Given the description of an element on the screen output the (x, y) to click on. 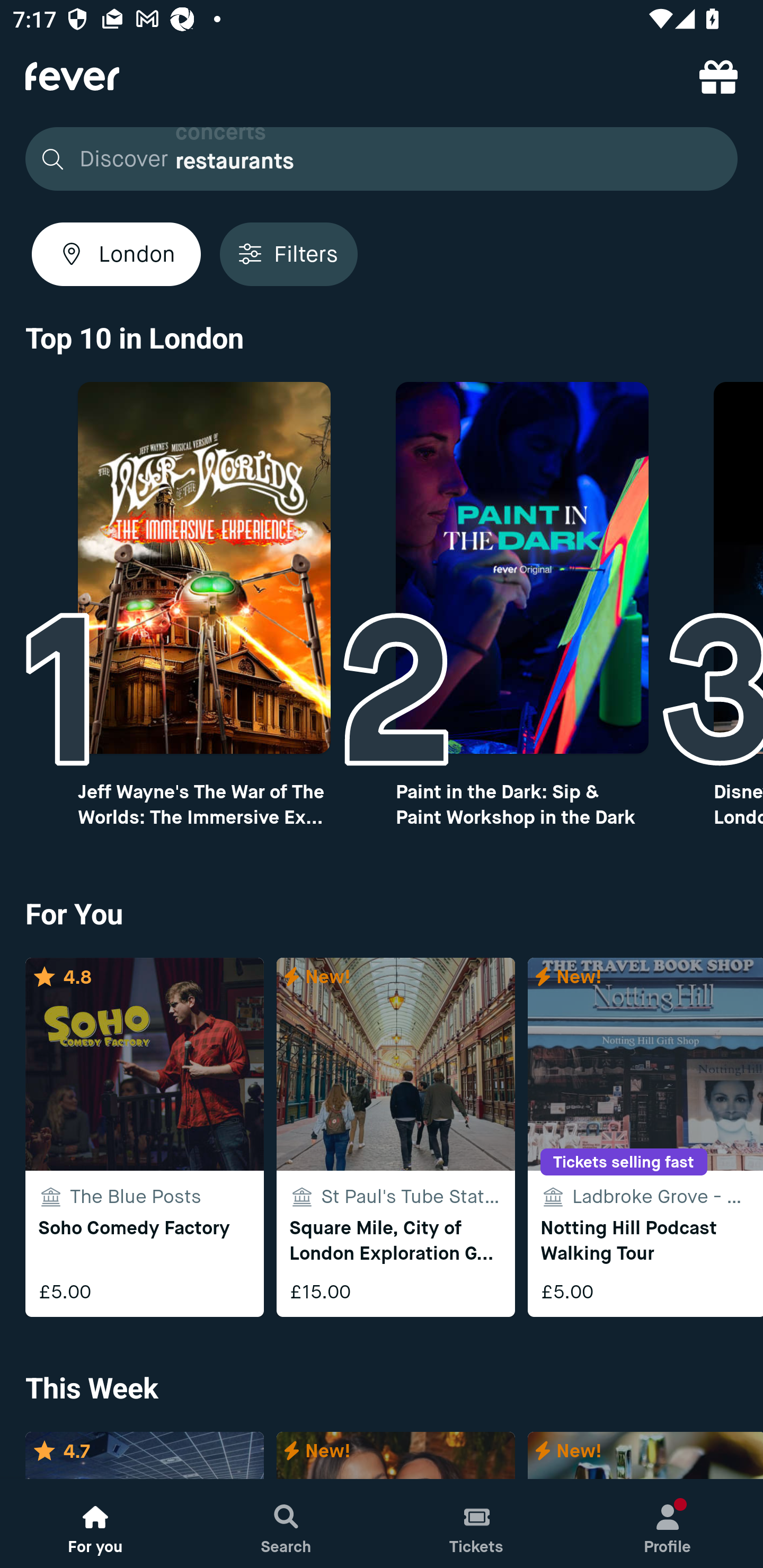
referral (718, 75)
Discover concerts (381, 158)
Discover concerts (376, 158)
London (116, 253)
Filters (288, 253)
Top10 image (203, 568)
Top10 image (521, 568)
Search (285, 1523)
Tickets (476, 1523)
Profile, New notification Profile (667, 1523)
